Given the description of an element on the screen output the (x, y) to click on. 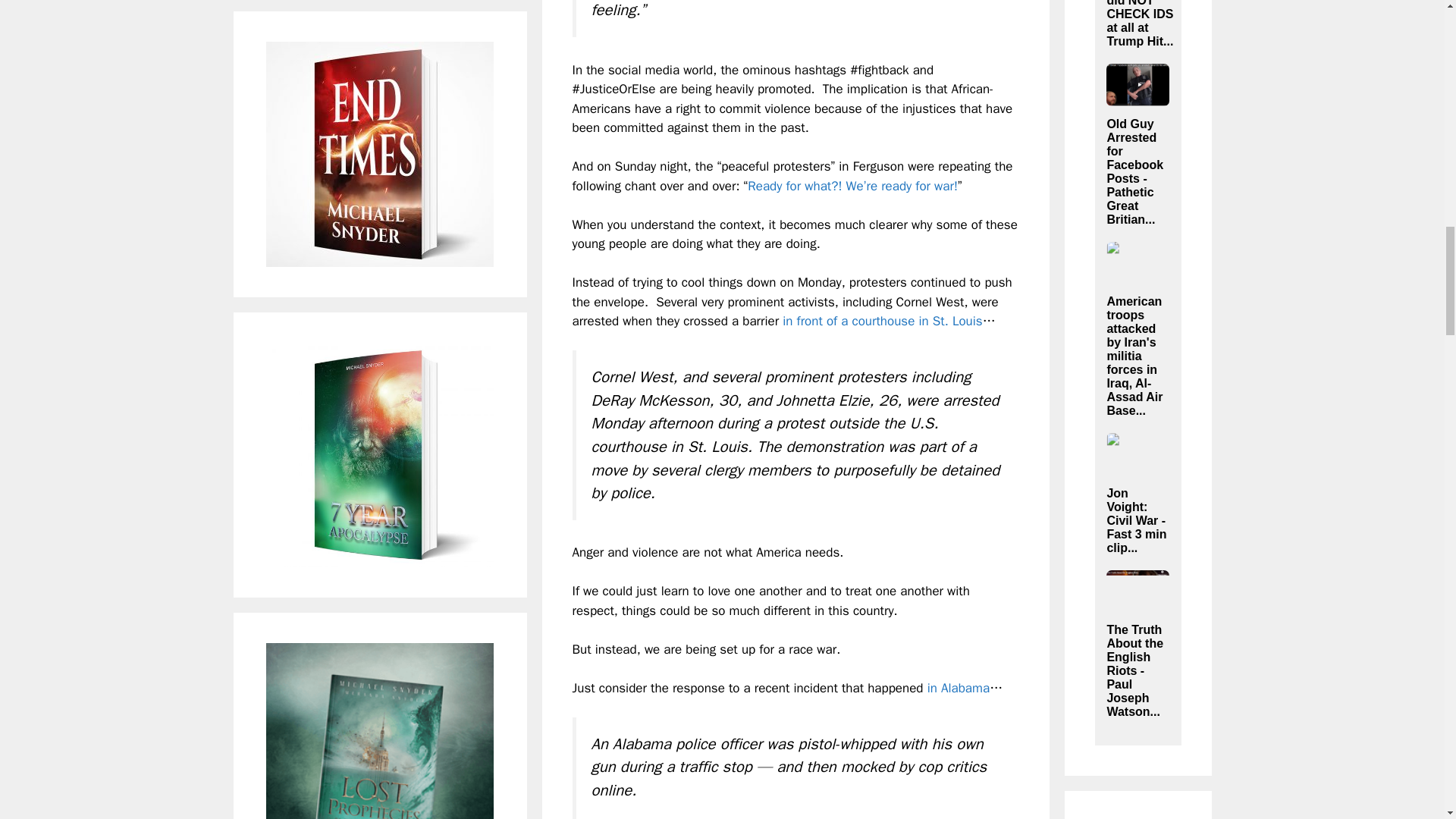
in Alabama (958, 688)
in front of a courthouse in St. Louis (882, 320)
in front of a courthouse in St. Louis (882, 320)
in Alabama (958, 688)
